Given the description of an element on the screen output the (x, y) to click on. 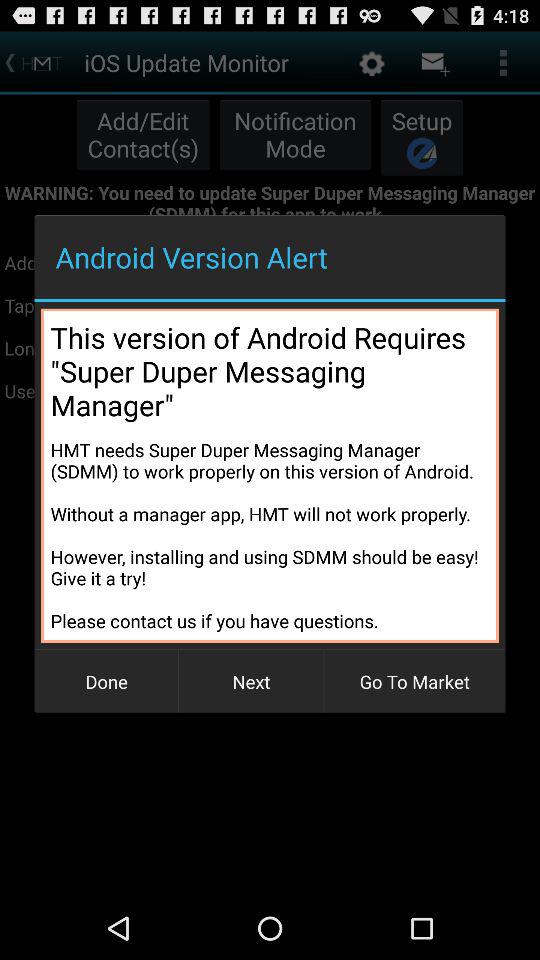
press the button next to go to market (251, 681)
